Given the description of an element on the screen output the (x, y) to click on. 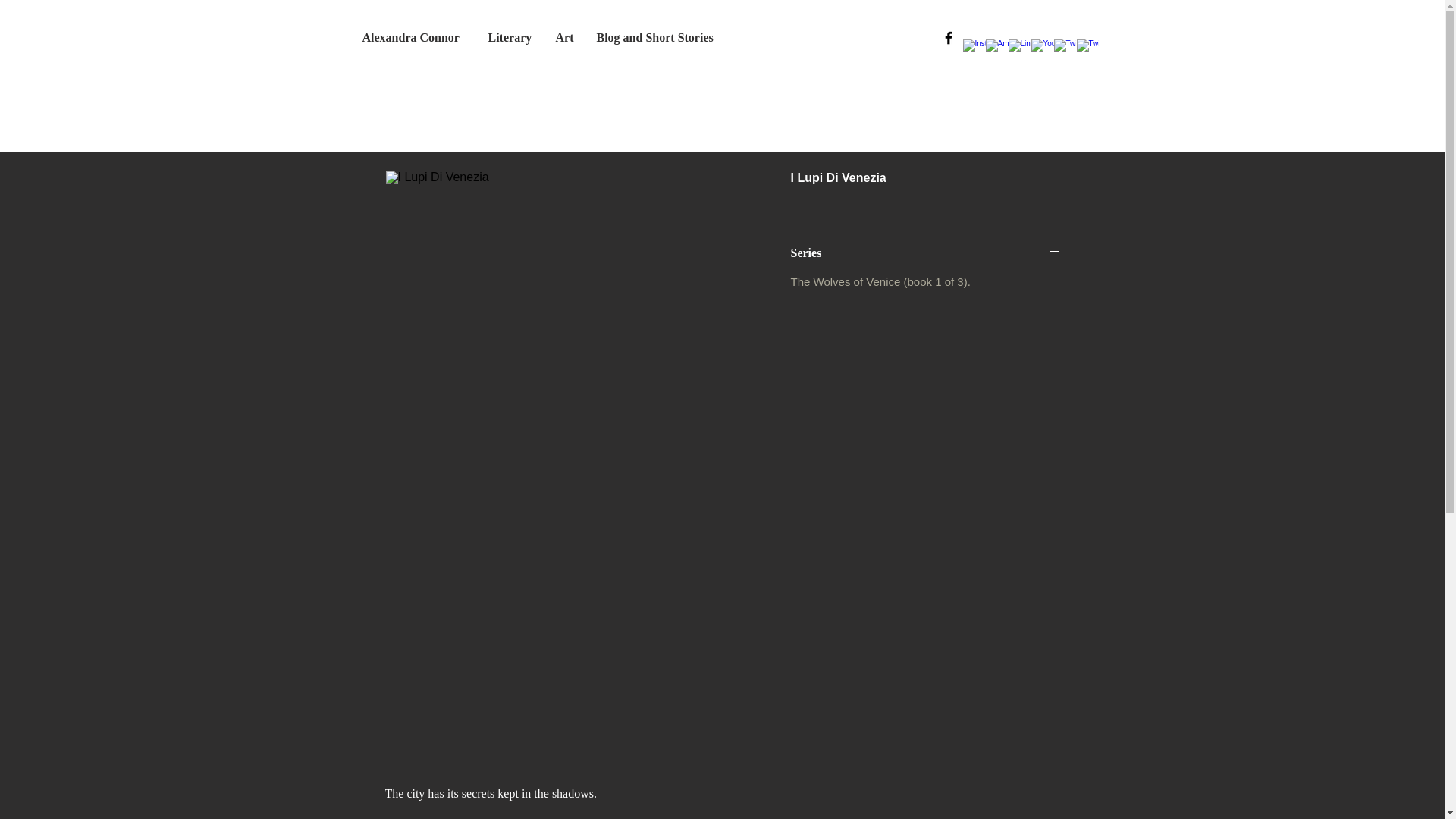
Blog and Short Stories (659, 36)
Art (564, 36)
Literary (509, 36)
Alexandra Connor (413, 36)
Series (924, 253)
